Given the description of an element on the screen output the (x, y) to click on. 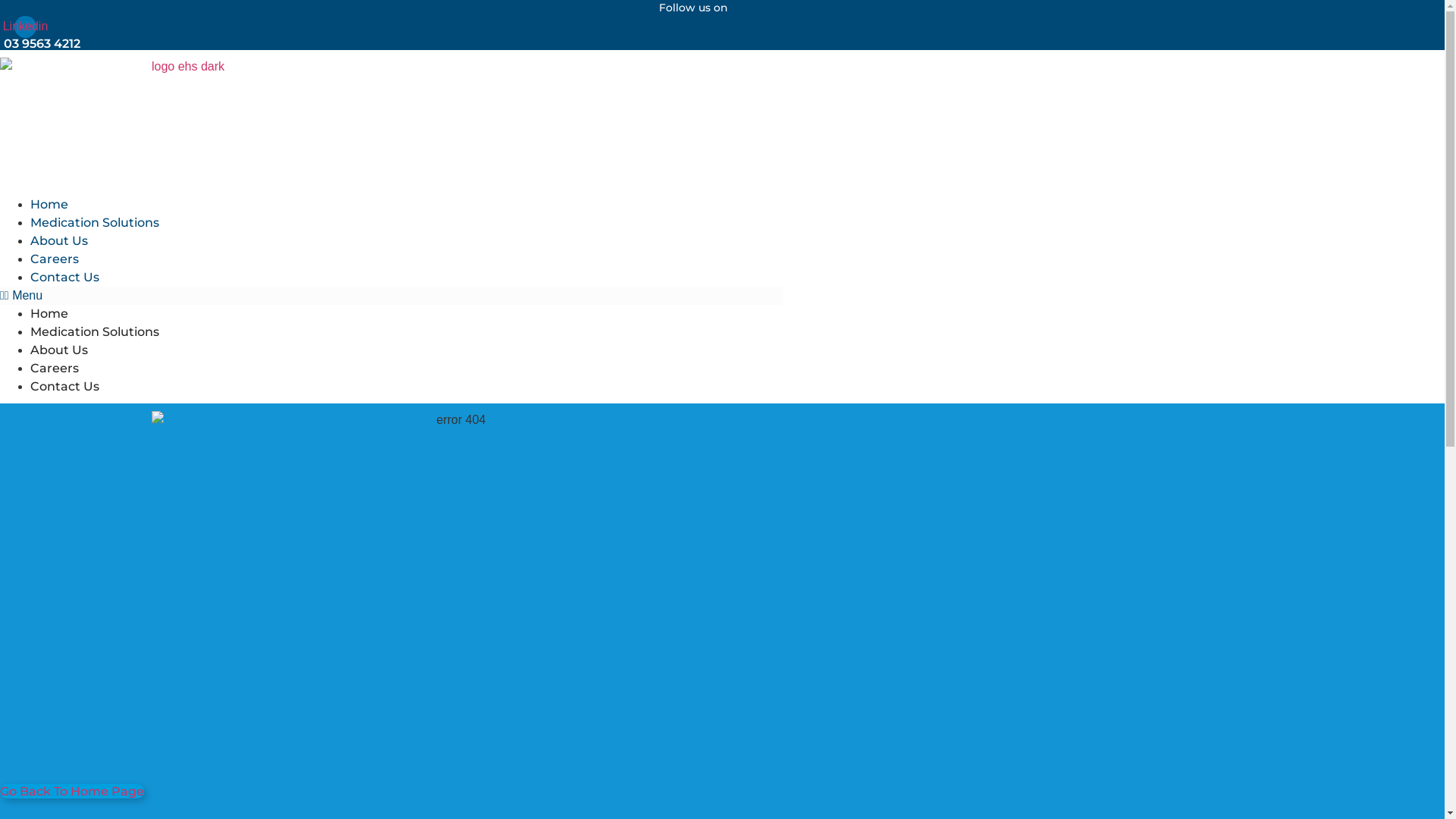
Contact Us Element type: text (64, 386)
Careers Element type: text (54, 367)
Home Element type: text (49, 313)
About Us Element type: text (58, 349)
Contact Us Element type: text (64, 276)
Linkedin Element type: text (25, 26)
Home Element type: text (49, 204)
About Us Element type: text (58, 240)
Medication Solutions Element type: text (94, 222)
03 9563 4212 Element type: text (41, 43)
Medication Solutions Element type: text (94, 331)
Go Back To Home Page Element type: text (72, 791)
Careers Element type: text (54, 258)
